Given the description of an element on the screen output the (x, y) to click on. 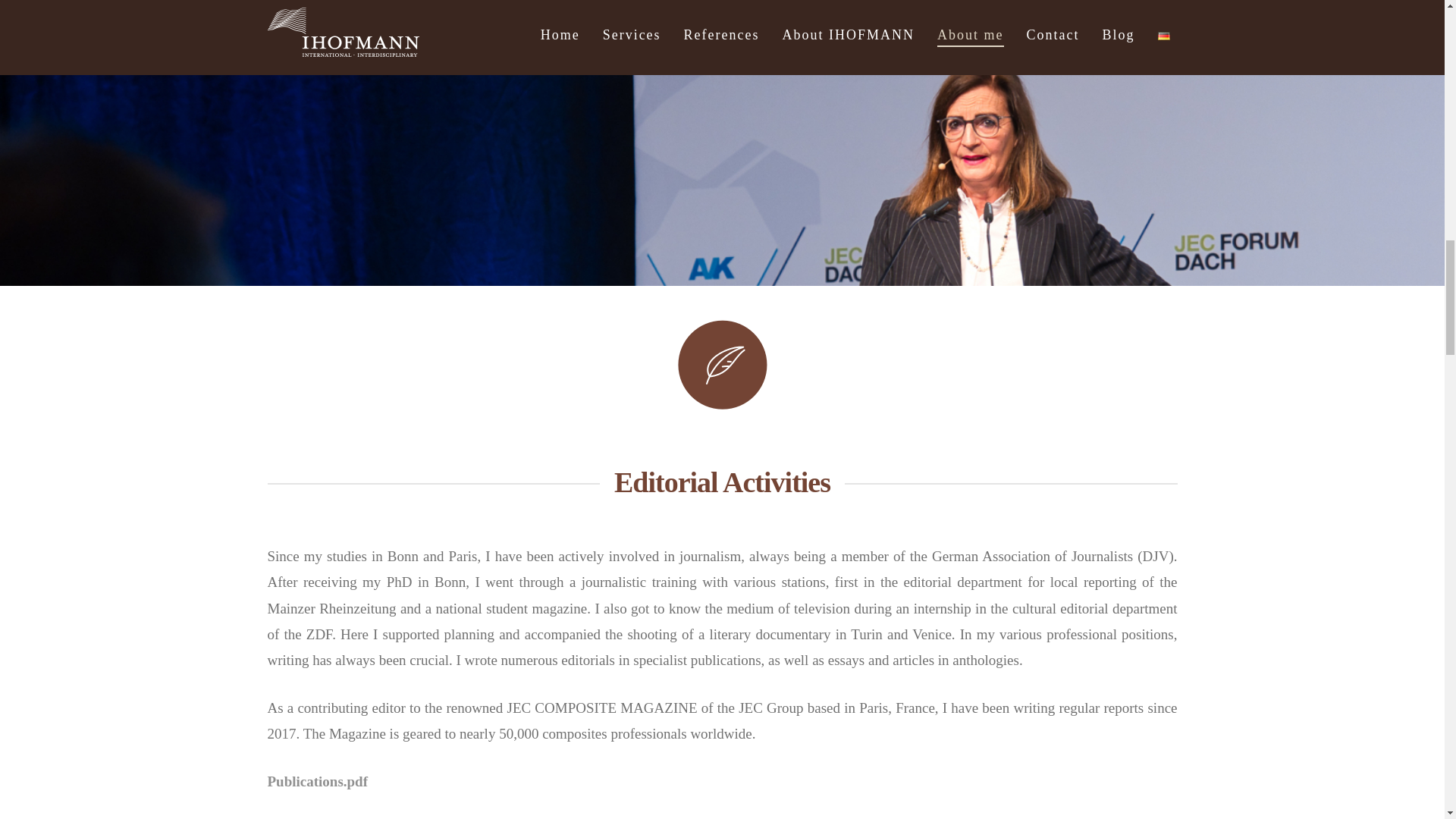
Publications.pdf (317, 781)
